Given the description of an element on the screen output the (x, y) to click on. 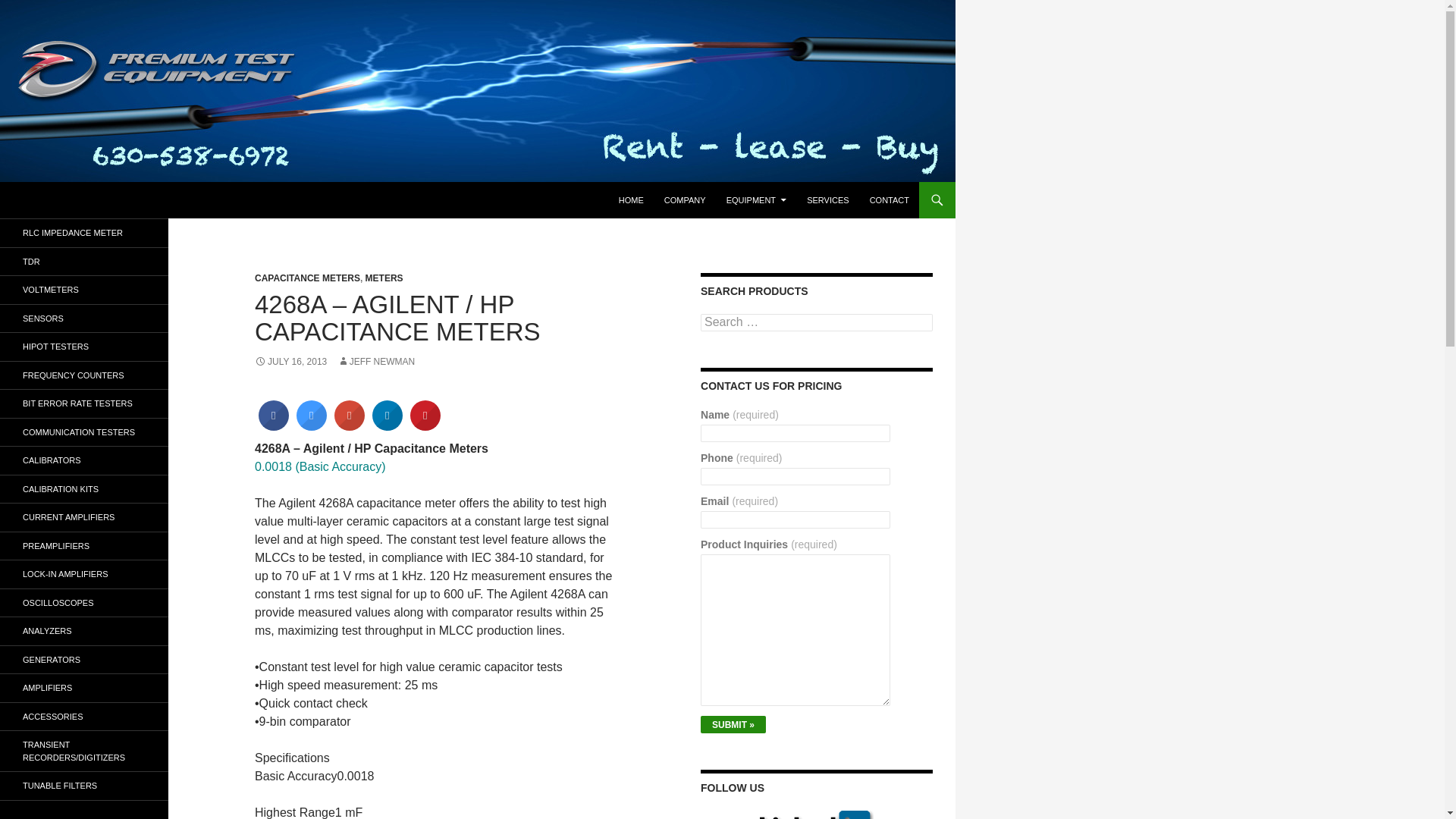
SKIP TO CONTENT (656, 187)
Share to LinkedIn (387, 426)
SERVICES (827, 199)
JULY 16, 2013 (290, 361)
Search for: (816, 322)
CAPACITANCE METERS (306, 277)
HOME (631, 199)
Share to Facebook (273, 426)
METERS (384, 277)
COMPANY (684, 199)
Premium Test Equipment (104, 199)
Share to Pinterest (425, 426)
JEFF NEWMAN (375, 361)
CONTACT (889, 199)
Share to Google Plus (349, 426)
